Given the description of an element on the screen output the (x, y) to click on. 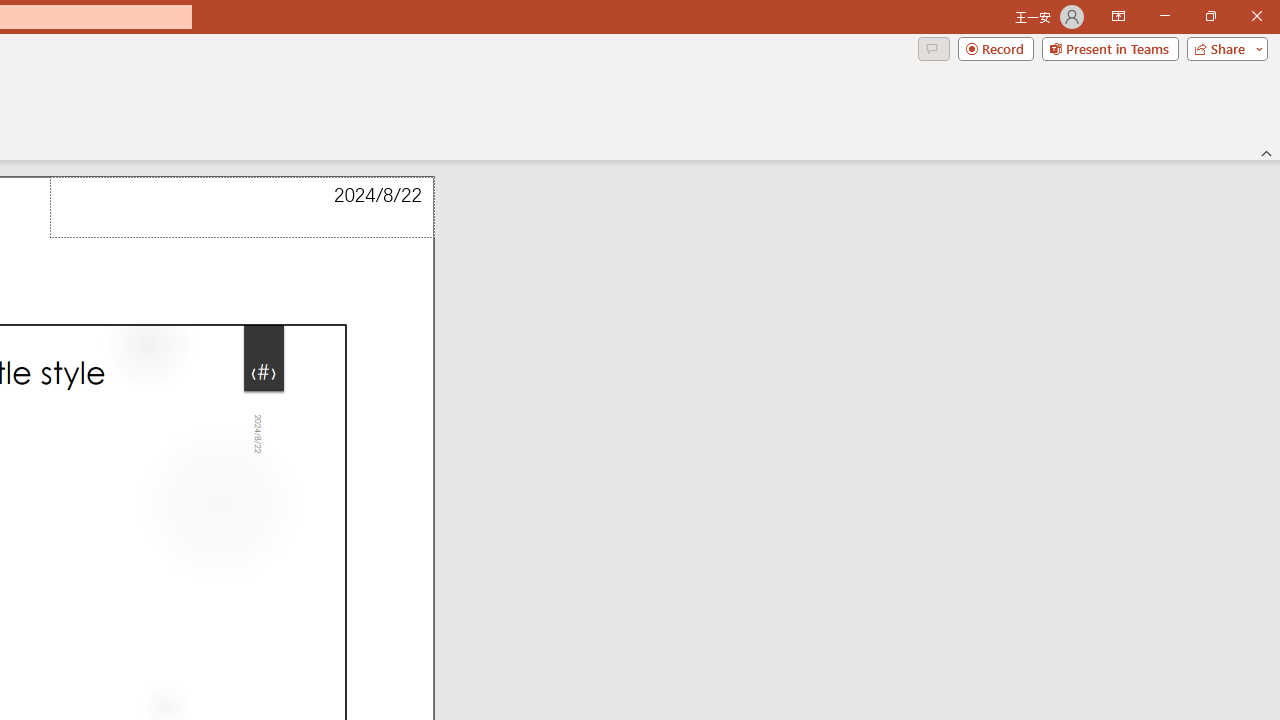
Date (242, 207)
